Given the description of an element on the screen output the (x, y) to click on. 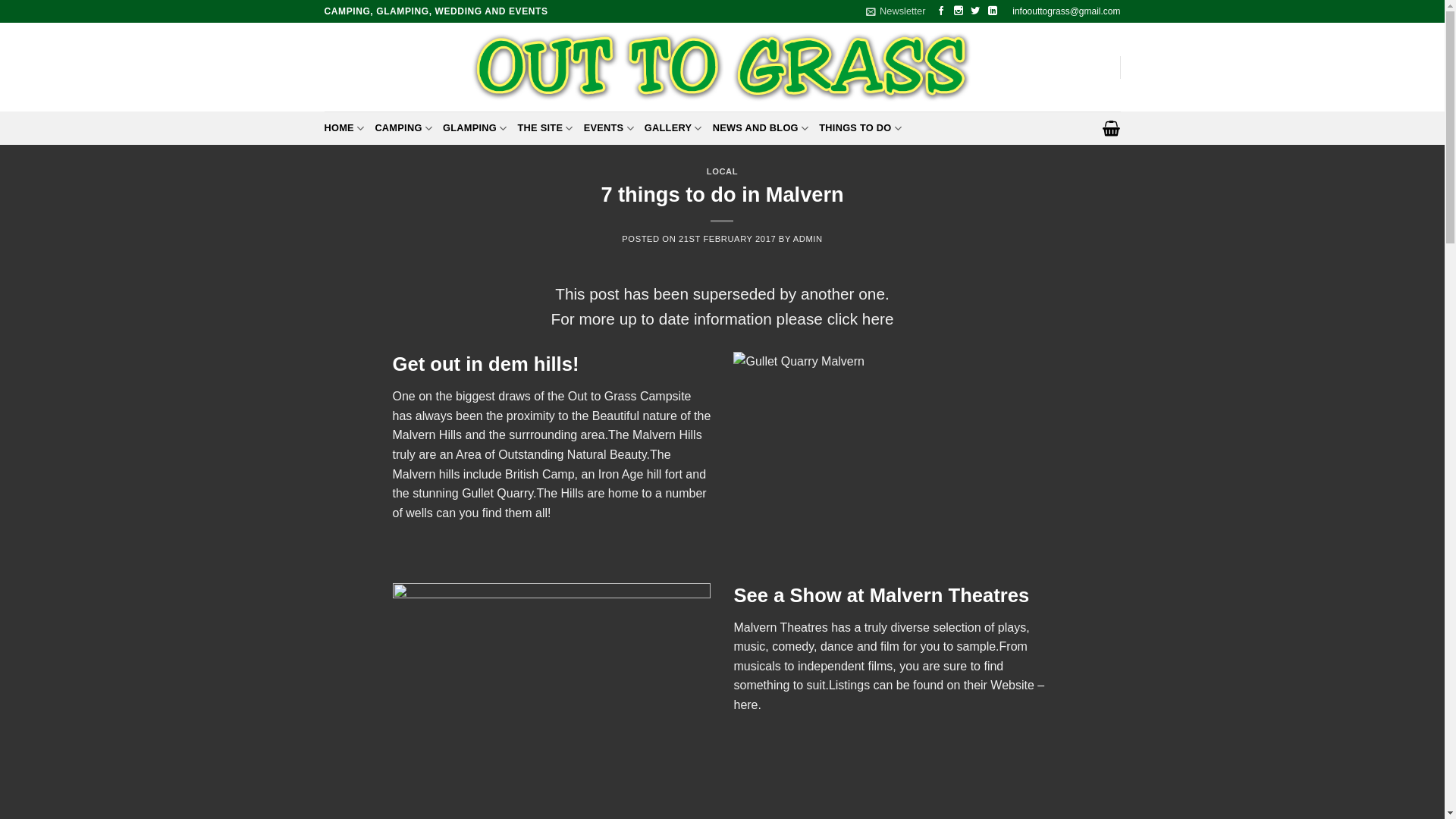
Follow on Twitter (976, 10)
GLAMPING (474, 128)
Follow on Facebook (941, 10)
Newsletter (895, 11)
EVENTS (608, 128)
Follow on Instagram (959, 10)
HOME (344, 128)
Out To Grass - Camping, Glamping, Wedding and Events (722, 66)
Sign up for Newsletter (895, 11)
CAMPING (403, 128)
